Given the description of an element on the screen output the (x, y) to click on. 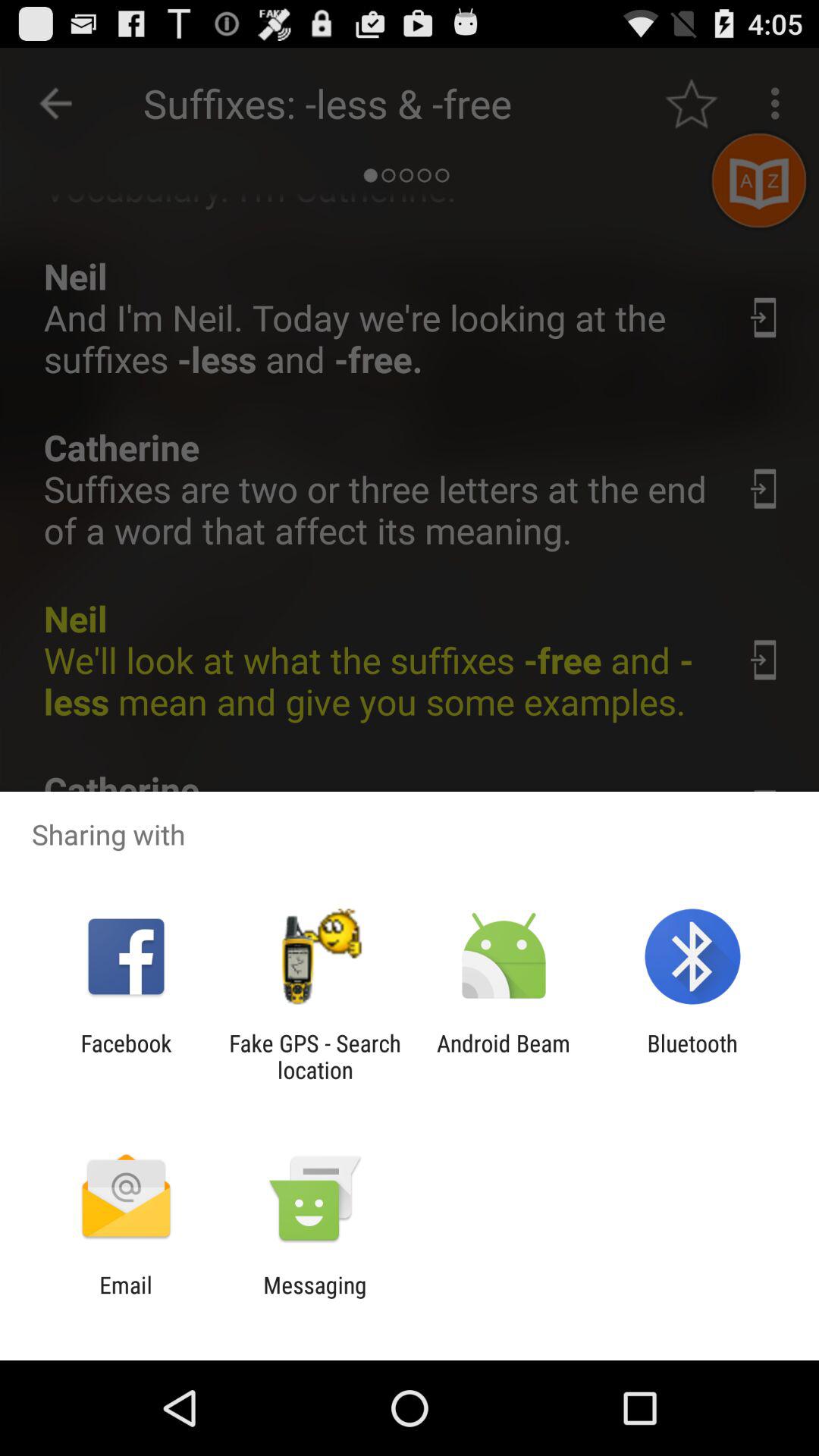
tap app next to the android beam (692, 1056)
